Given the description of an element on the screen output the (x, y) to click on. 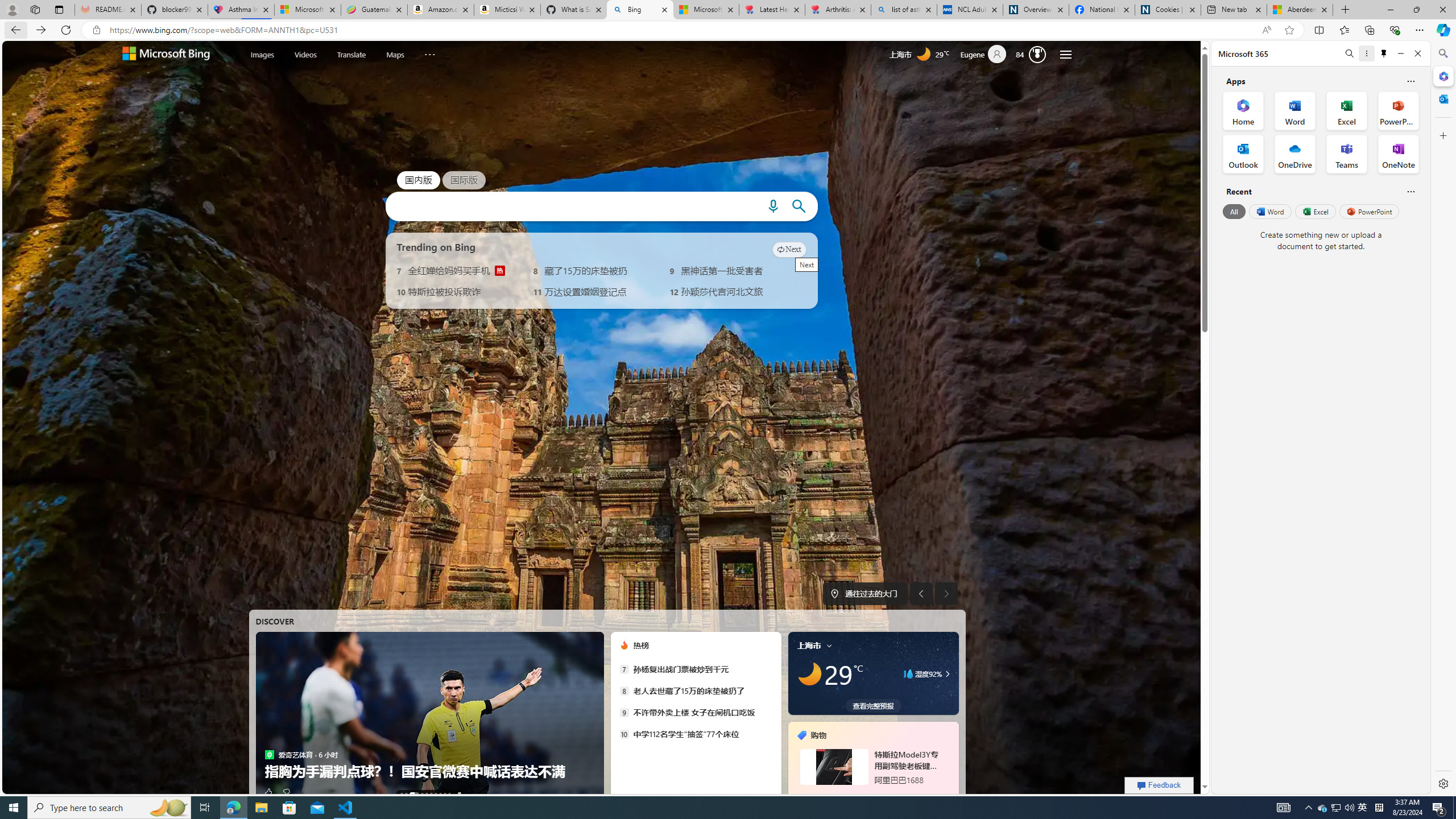
Word Office App (1295, 110)
Welcome to Bing Search (165, 54)
To get missing image descriptions, open the context menu. (623, 645)
Asthma Inhalers: Names and Types (240, 9)
Is this helpful? (1410, 191)
Word (1269, 210)
PowerPoint Office App (1398, 110)
Outlook Office App (1243, 154)
